Given the description of an element on the screen output the (x, y) to click on. 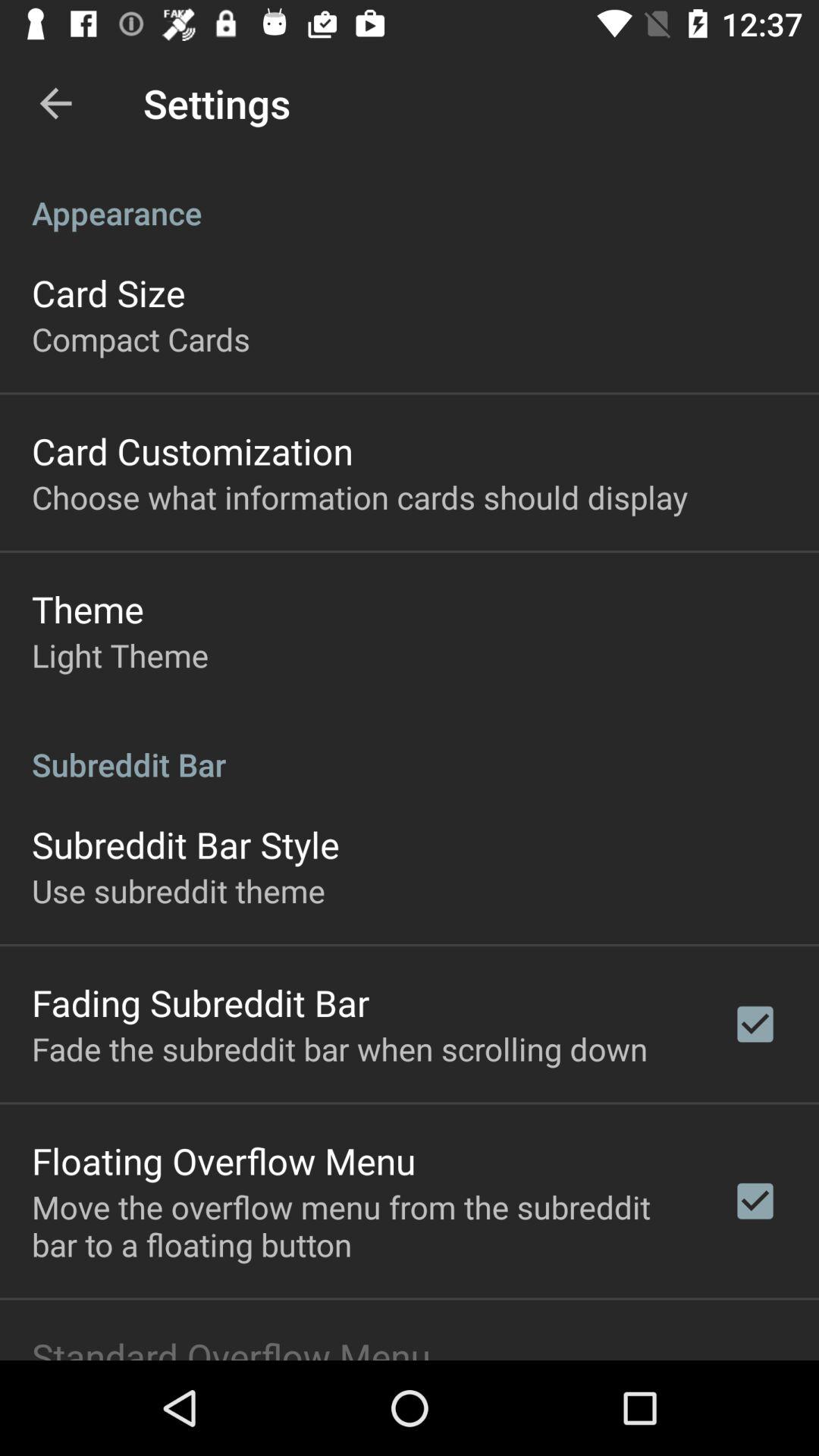
click item below the card size app (140, 338)
